Given the description of an element on the screen output the (x, y) to click on. 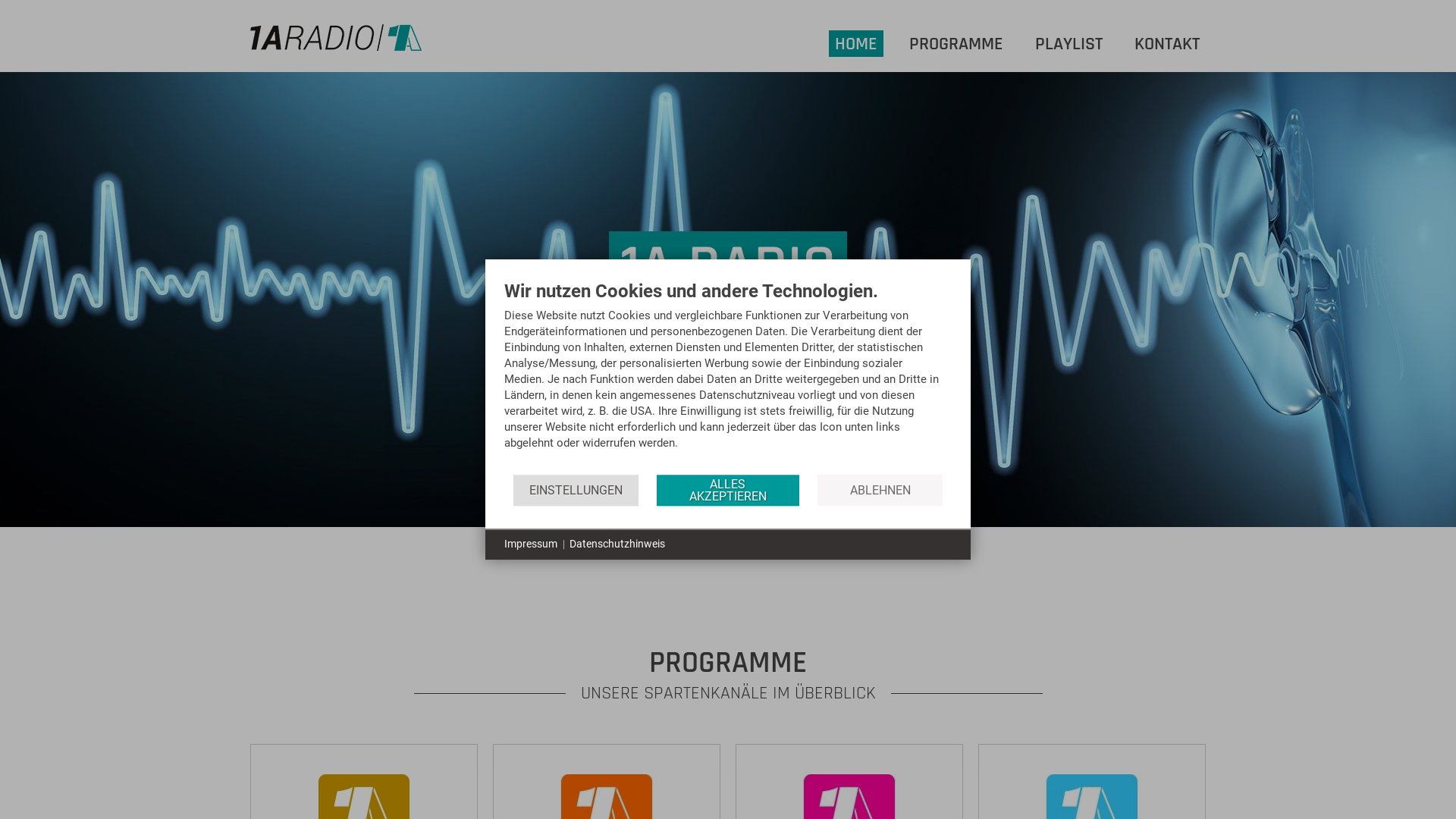
EINSTELLUNGEN Element type: text (575, 489)
ALLES AKZEPTIEREN Element type: text (728, 489)
PLAYLIST Element type: text (1068, 43)
ABLEHNEN Element type: text (879, 489)
1A Radio Element type: hover (335, 37)
PROGRAMME Element type: text (956, 43)
HOME Element type: text (855, 43)
Impressum Element type: text (530, 544)
Datenschutzhinweis Element type: text (617, 544)
KONTAKT Element type: text (1166, 43)
